Given the description of an element on the screen output the (x, y) to click on. 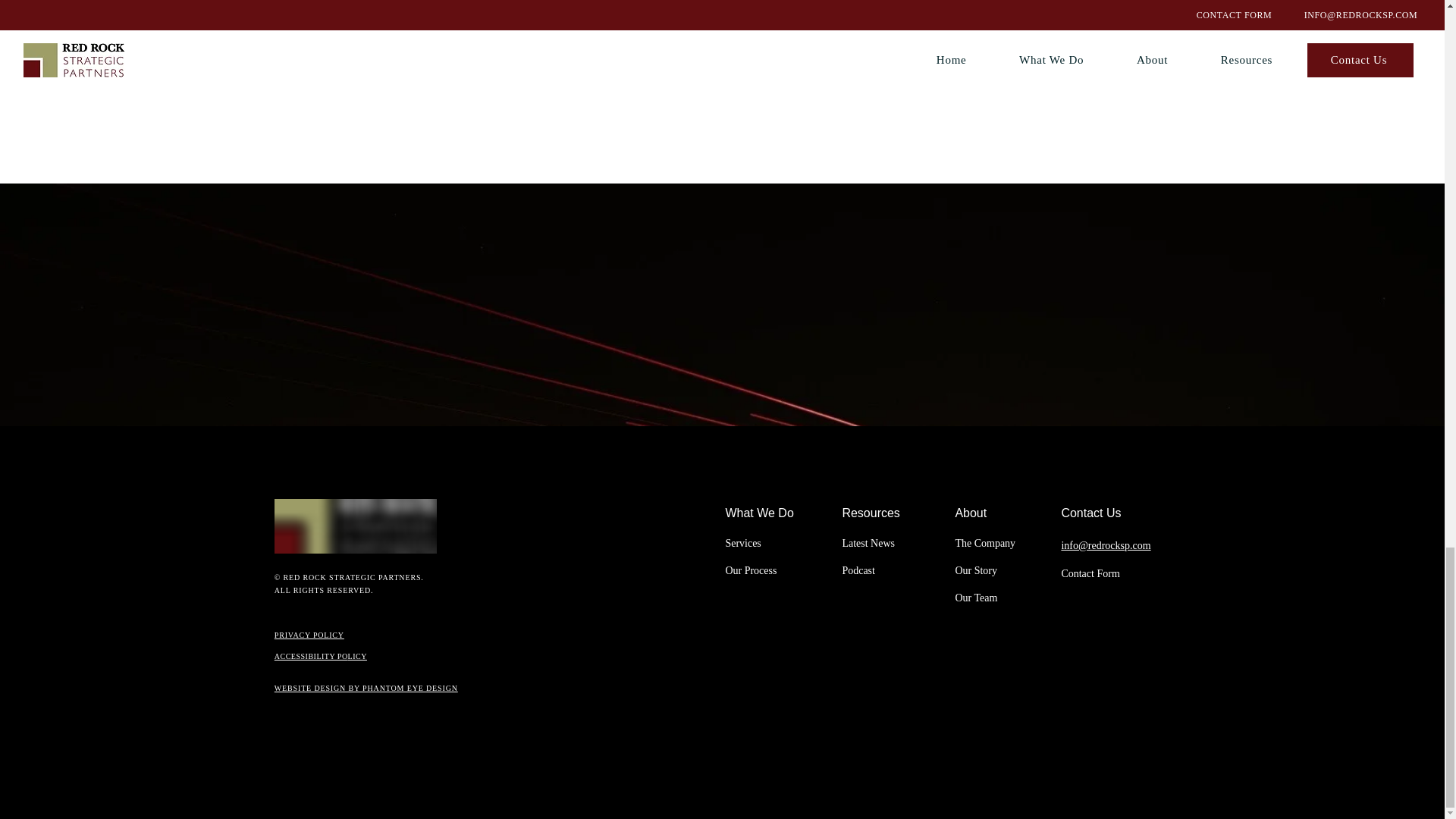
Our Process (750, 570)
WEBSITE DESIGN BY PHANTOM EYE DESIGN (366, 687)
Latest News (868, 542)
PRIVACY POLICY (309, 634)
The Company (984, 542)
Contact Form (1090, 573)
ACCESSIBILITY POLICY (320, 655)
Our Team (976, 597)
Services (742, 542)
Podcast (858, 570)
